Given the description of an element on the screen output the (x, y) to click on. 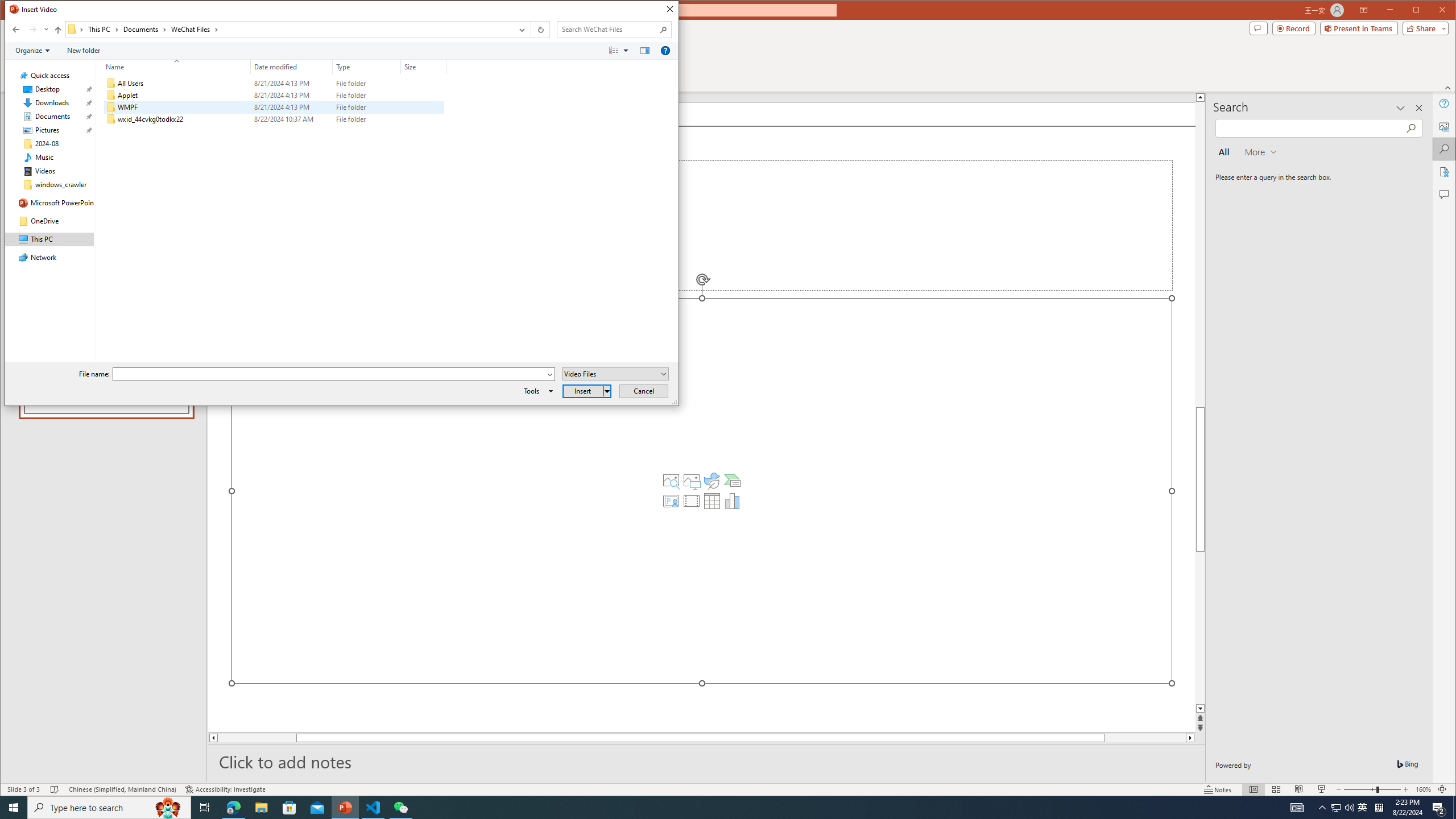
Name (183, 119)
This PC (102, 29)
Forward (Alt + Right Arrow) (33, 29)
Cancel (643, 391)
Maximize (1432, 11)
Zoom 160% (1422, 789)
